Given the description of an element on the screen output the (x, y) to click on. 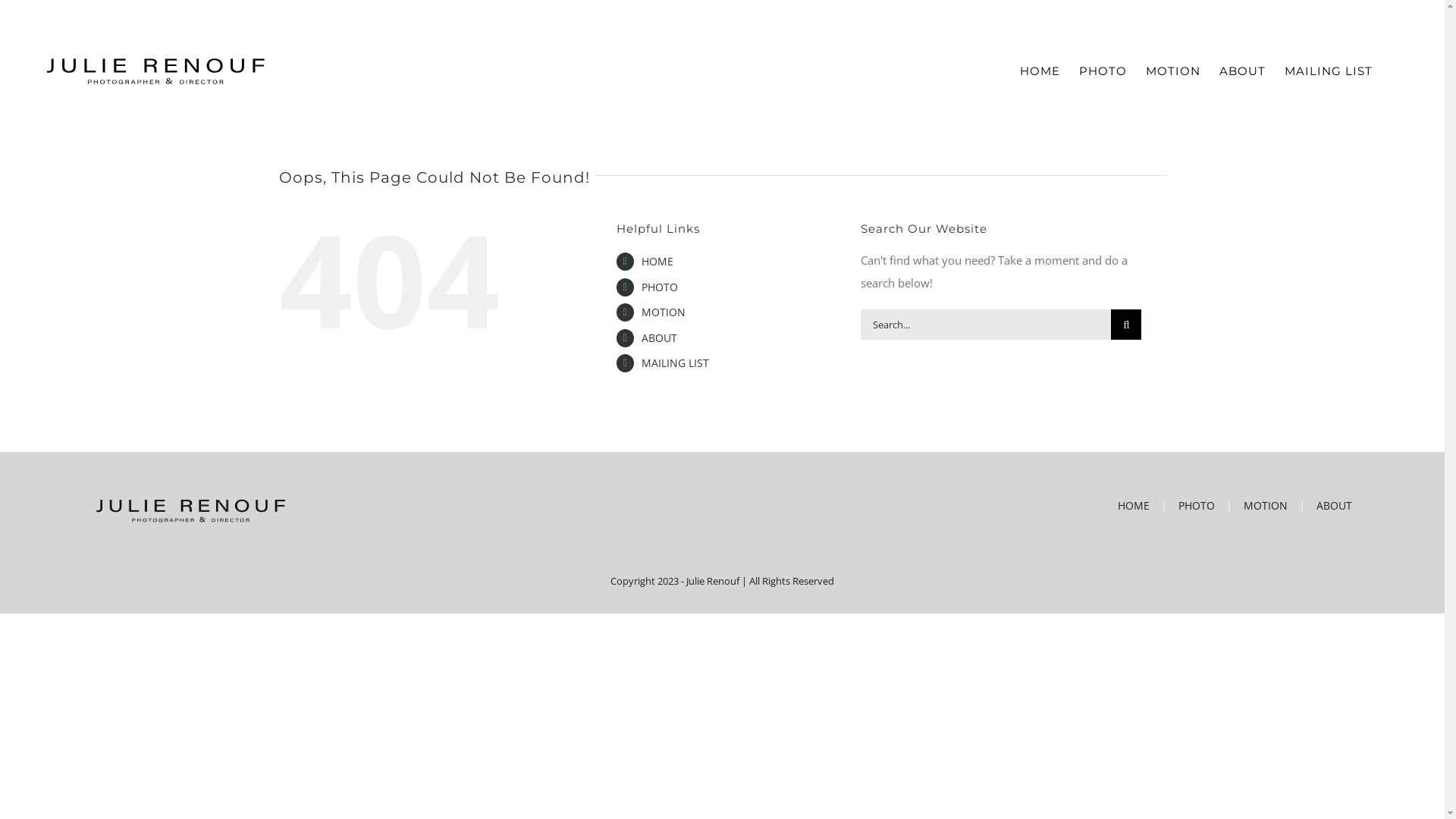
HOME Element type: text (1147, 505)
MOTION Element type: text (1279, 505)
PHOTO Element type: text (1102, 70)
HOME Element type: text (1039, 70)
ABOUT Element type: text (1242, 70)
HOME Element type: text (657, 261)
PHOTO Element type: text (659, 286)
ABOUT Element type: text (659, 337)
ABOUT Element type: text (1334, 505)
MOTION Element type: text (663, 311)
MOTION Element type: text (1172, 70)
MAILING LIST Element type: text (675, 362)
MAILING LIST Element type: text (1328, 70)
PHOTO Element type: text (1210, 505)
